Given the description of an element on the screen output the (x, y) to click on. 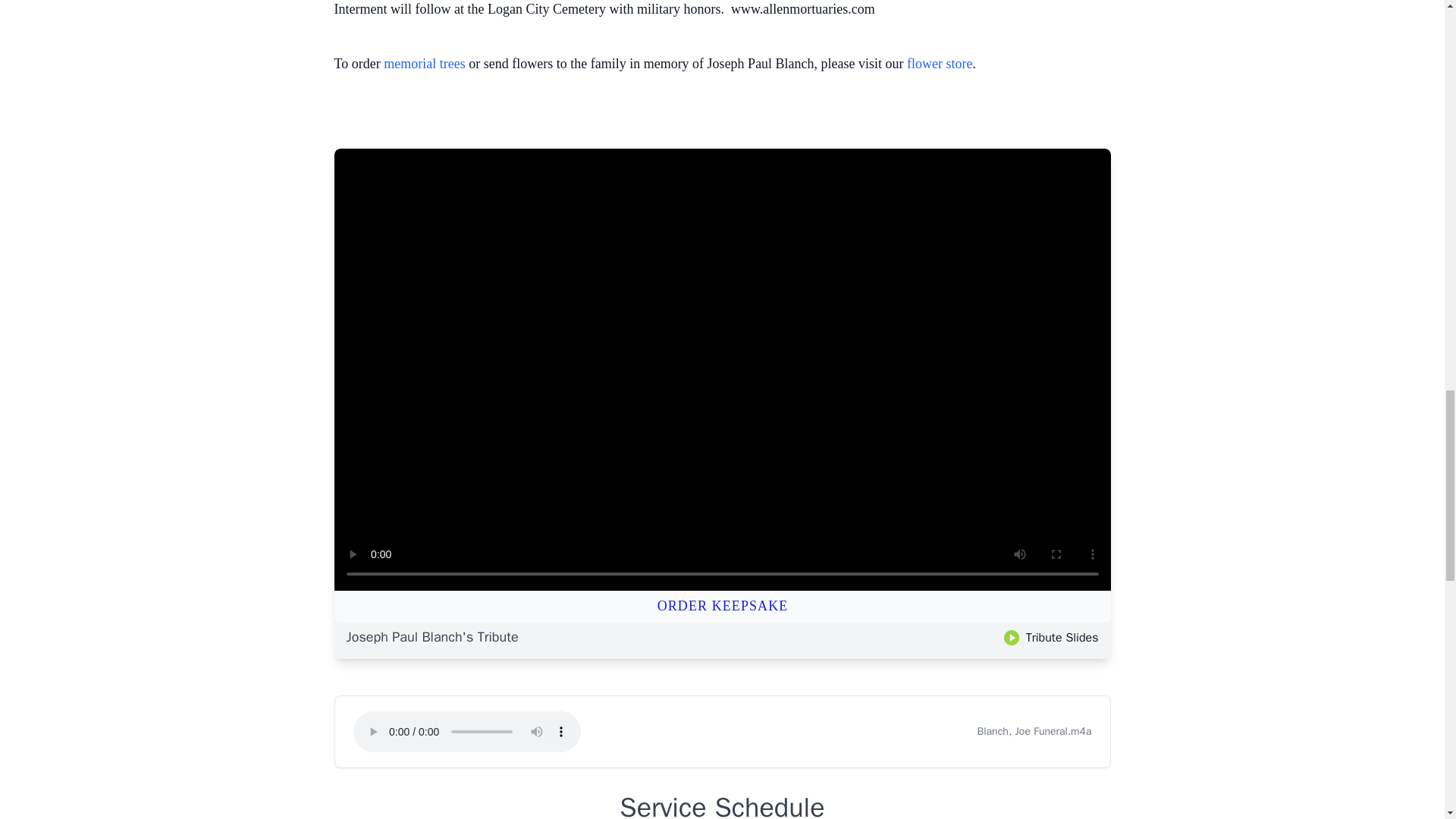
memorial trees (424, 63)
flower store (939, 63)
